Given the description of an element on the screen output the (x, y) to click on. 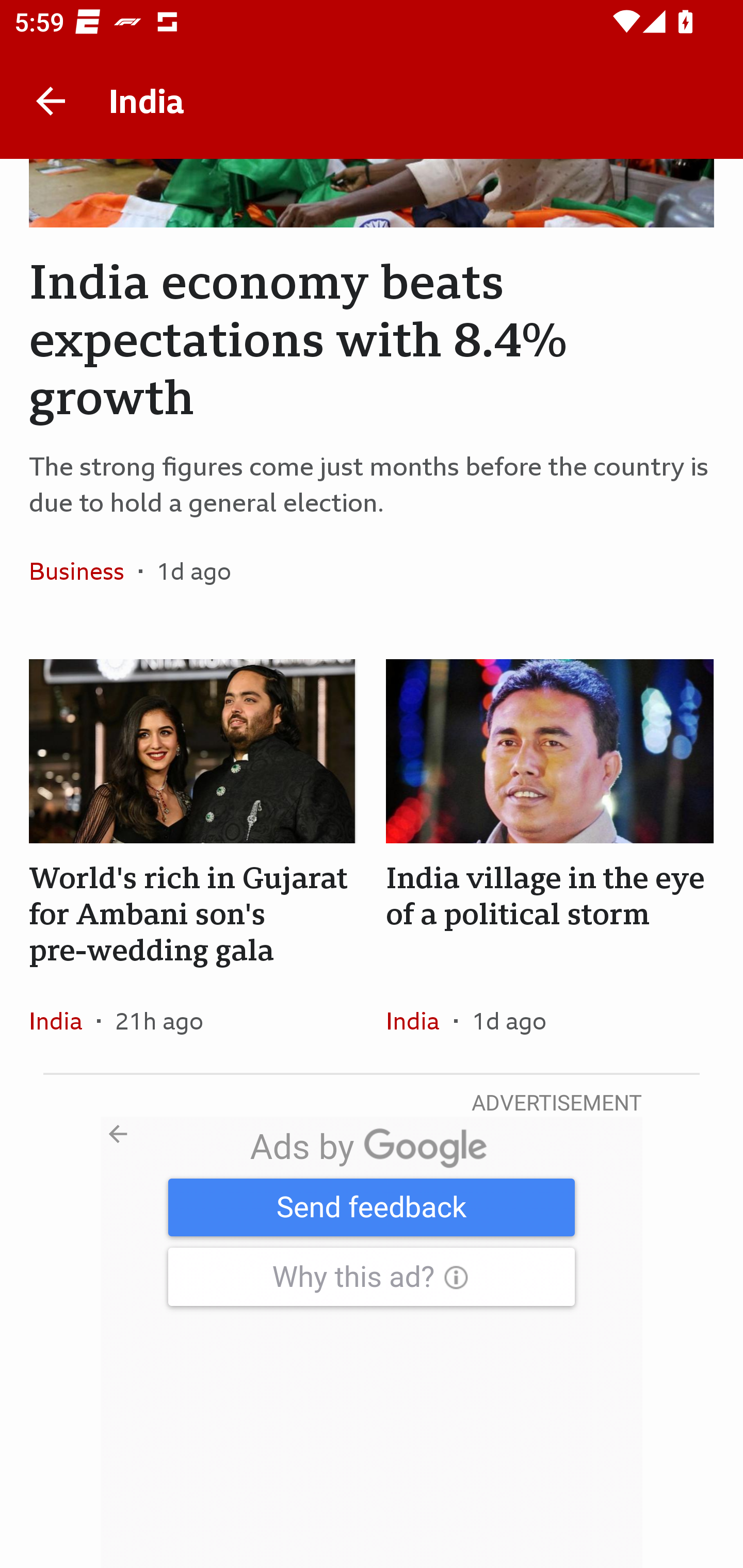
Back (50, 101)
Business In the section Business (83, 570)
India In the section India (62, 1020)
India In the section India (419, 1020)
Janus Henderson Investors (371, 1342)
